Given the description of an element on the screen output the (x, y) to click on. 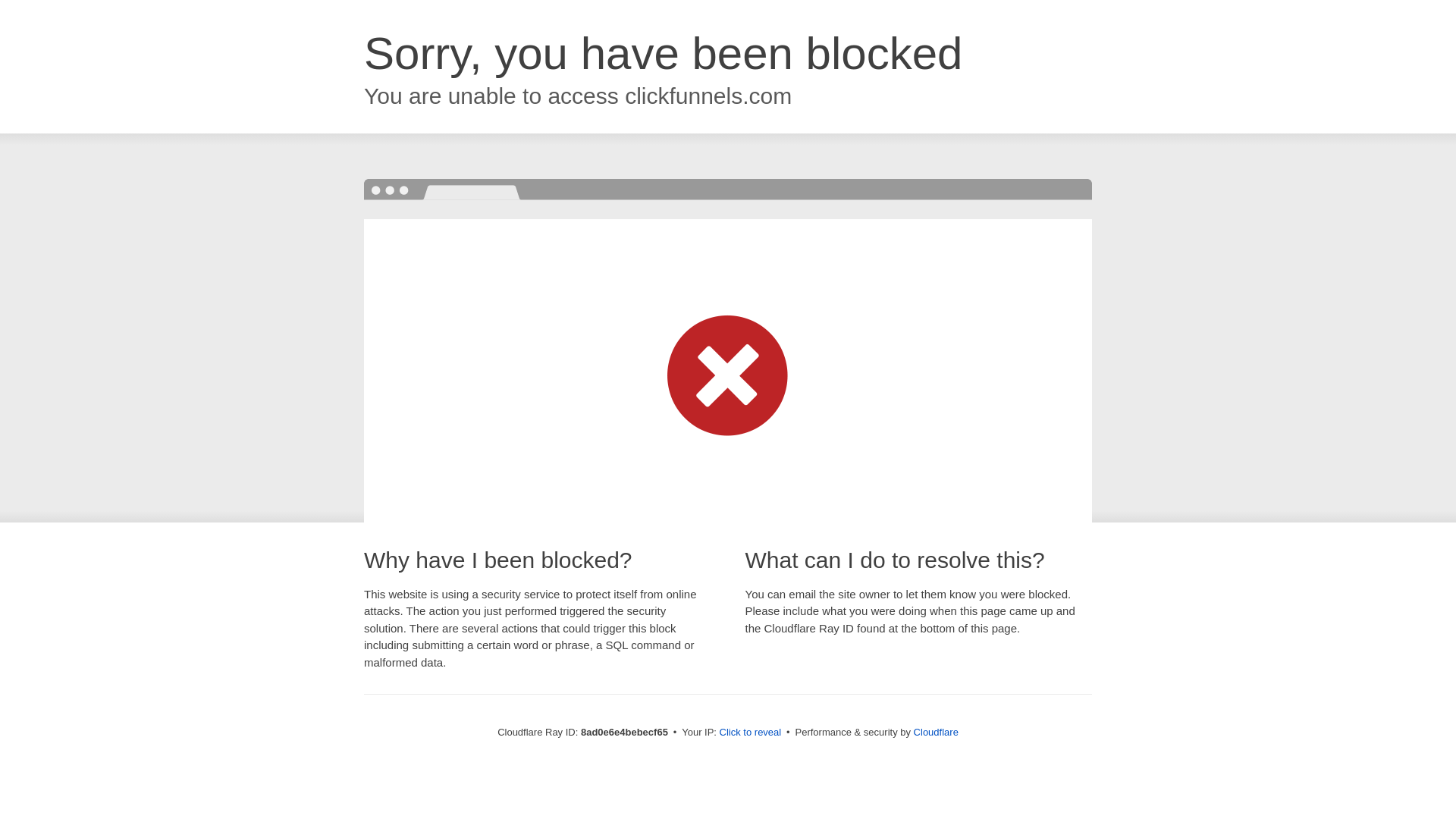
Click to reveal (750, 732)
Cloudflare (936, 731)
